Given the description of an element on the screen output the (x, y) to click on. 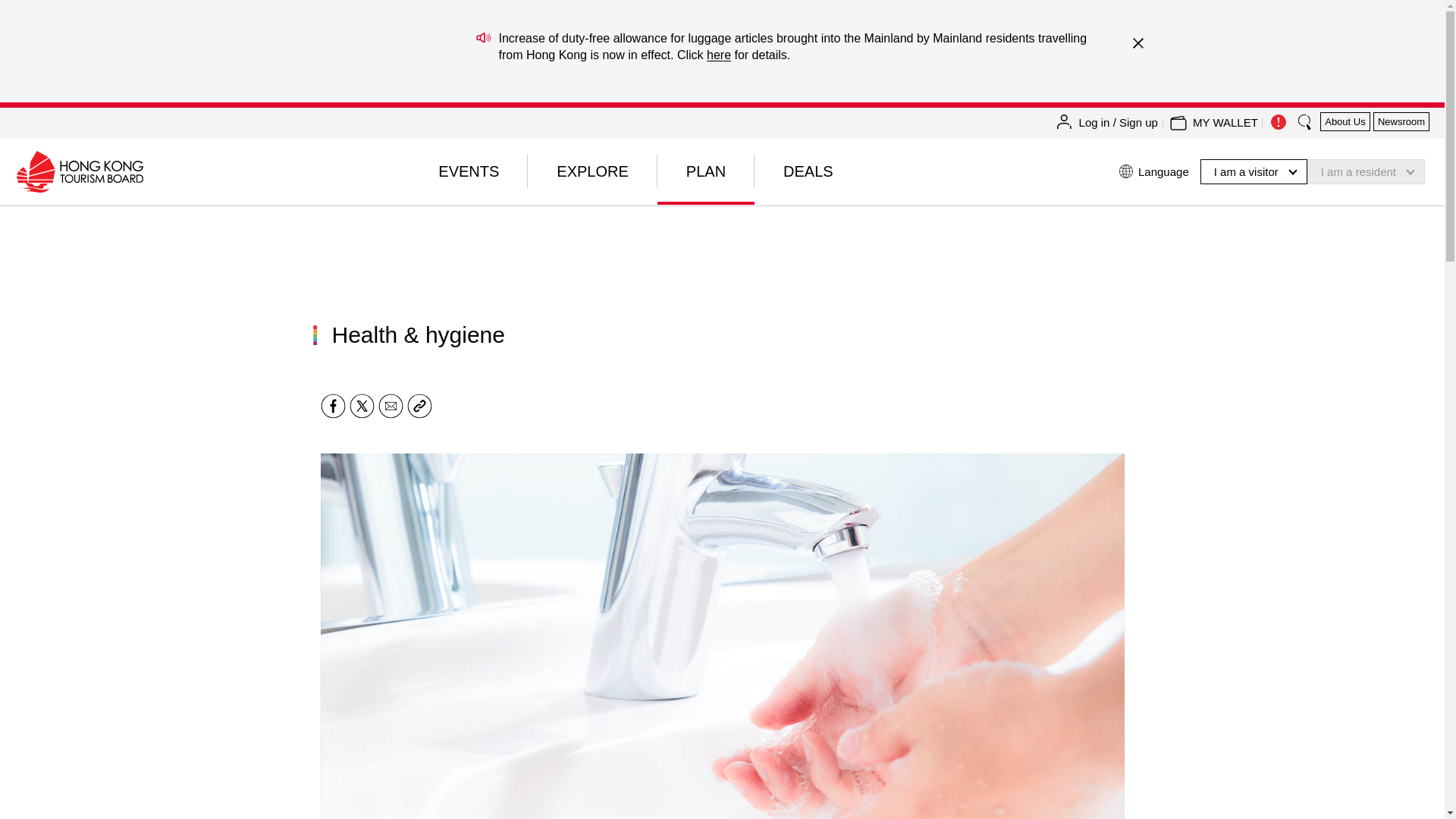
EXPLORE (591, 171)
Newsroom (1401, 121)
About Us (1345, 121)
here (718, 54)
Hong Kong Tourism Board (79, 171)
PLAN (706, 171)
MY WALLET (1224, 122)
